Given the description of an element on the screen output the (x, y) to click on. 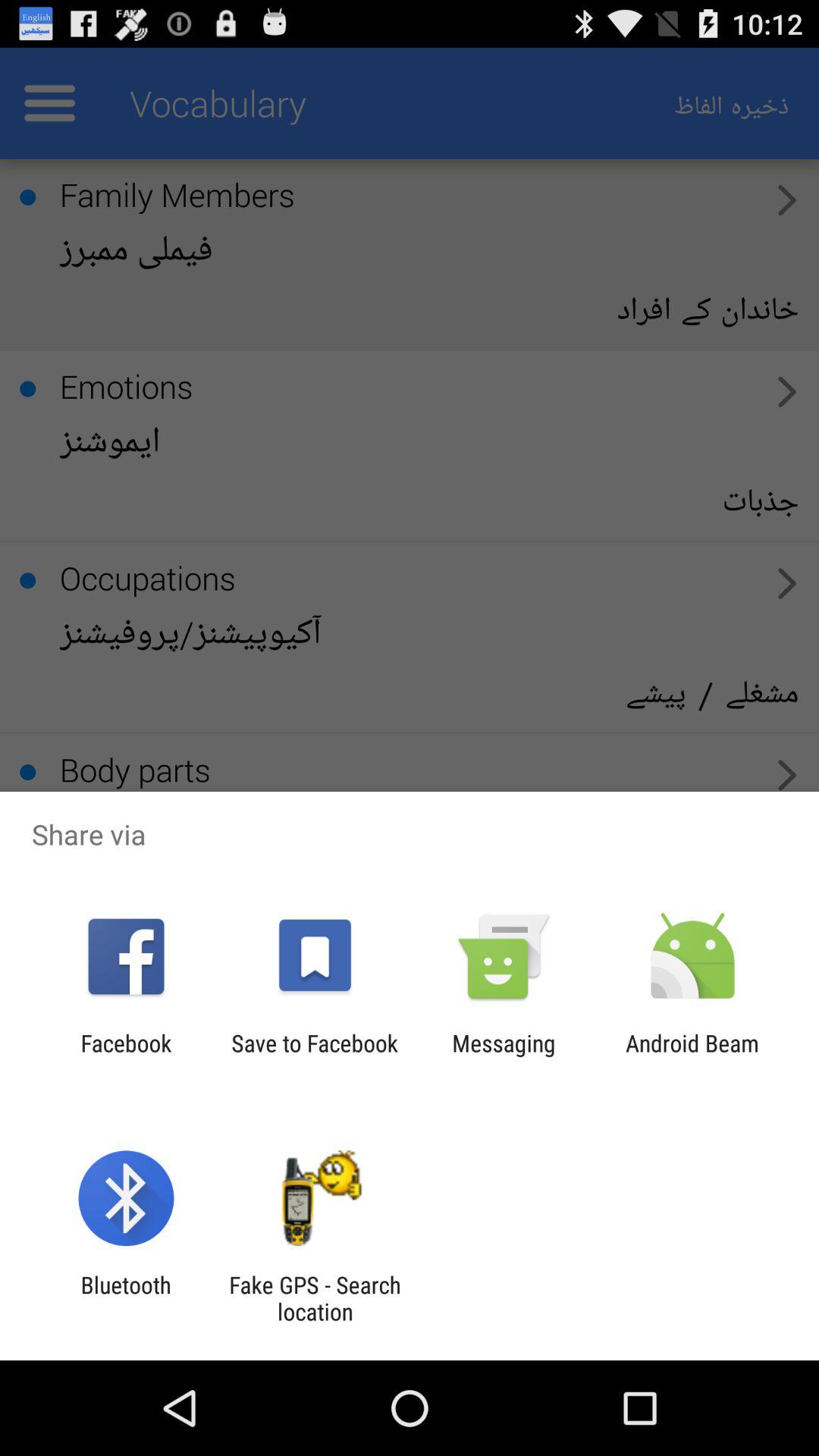
jump until the messaging app (503, 1056)
